Given the description of an element on the screen output the (x, y) to click on. 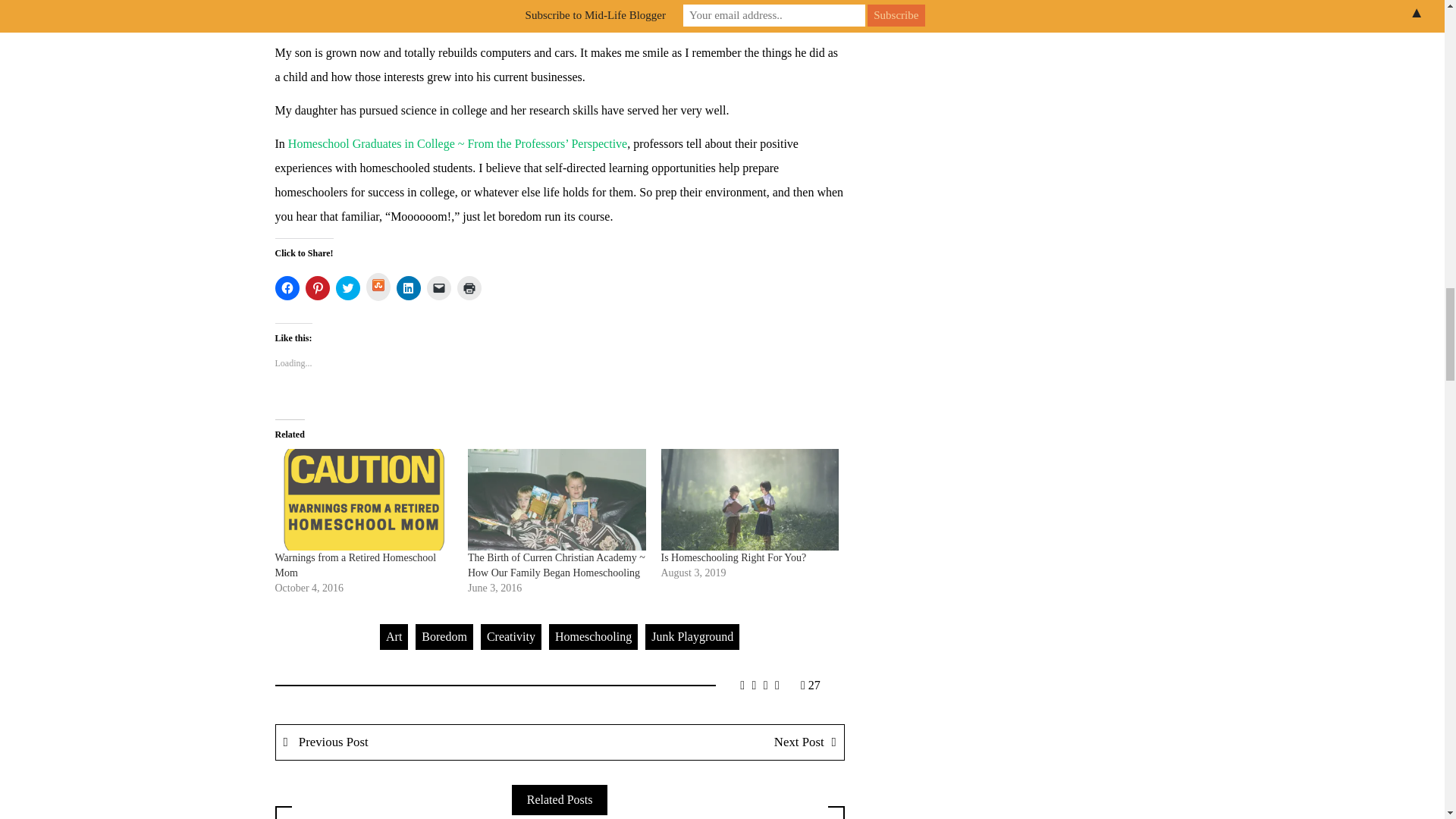
Click to share on LinkedIn (408, 288)
Warnings from a Retired Homeschool Mom (363, 499)
Warnings from a Retired Homeschool Mom (355, 565)
Click to share on Twitter (346, 288)
Warnings from a Retired Homeschool Mom (355, 565)
Is Homeschooling Right For You? (733, 557)
Click to print (468, 288)
Click to email a link to a friend (437, 288)
Is Homeschooling Right For You? (750, 499)
Is Homeschooling Right For You? (733, 557)
Click to share on Facebook (286, 288)
Click to share on Pinterest (316, 288)
